Given the description of an element on the screen output the (x, y) to click on. 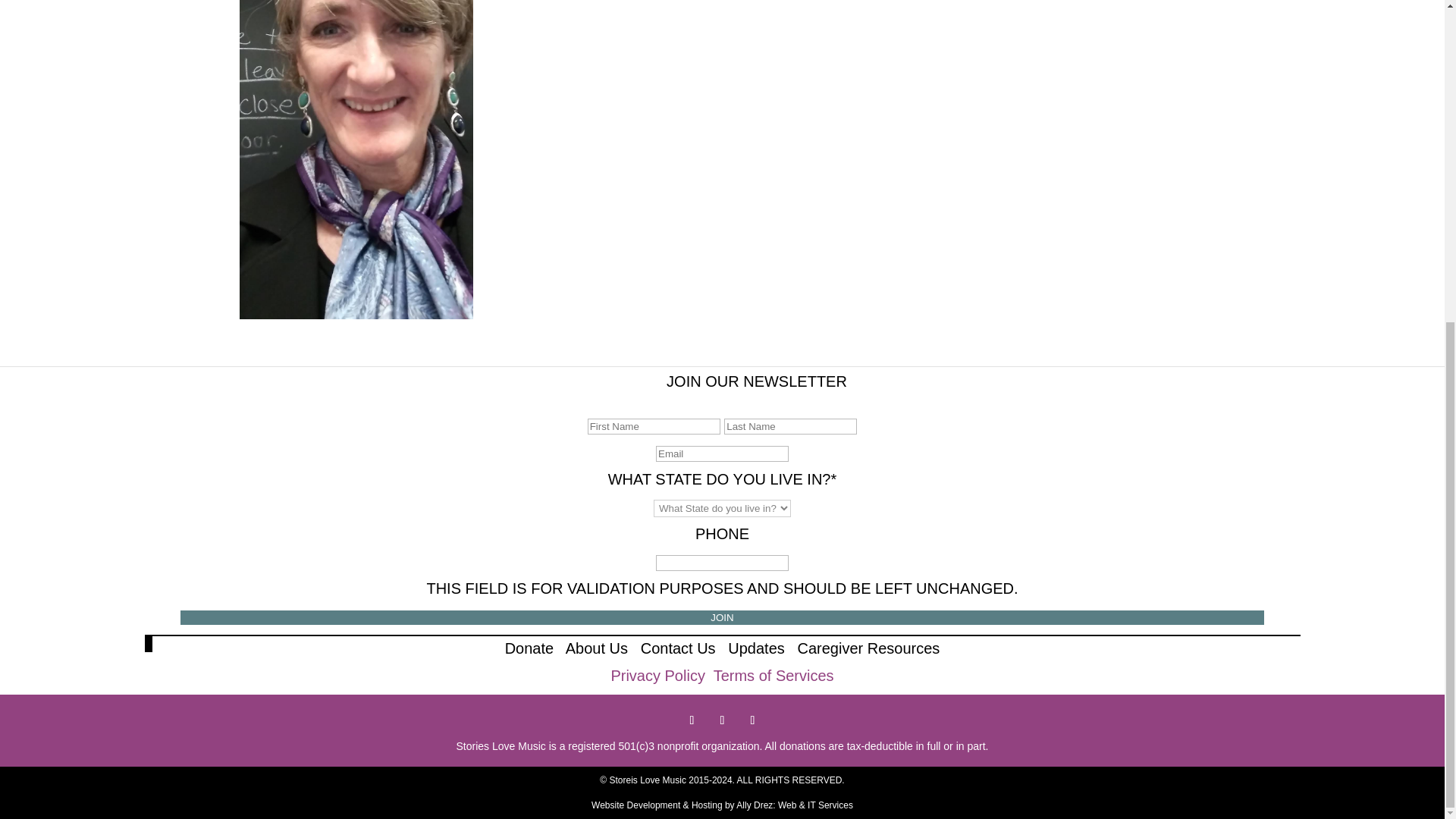
Link to caregiver resources (867, 647)
Terms of Services (773, 675)
JOIN (721, 617)
JOIN (721, 617)
Updates (756, 647)
Internal link to contact page (678, 647)
Caregiver Resources (867, 647)
Donate (529, 647)
Follow on Facebook (691, 720)
Internal link to about page (596, 647)
